Given the description of an element on the screen output the (x, y) to click on. 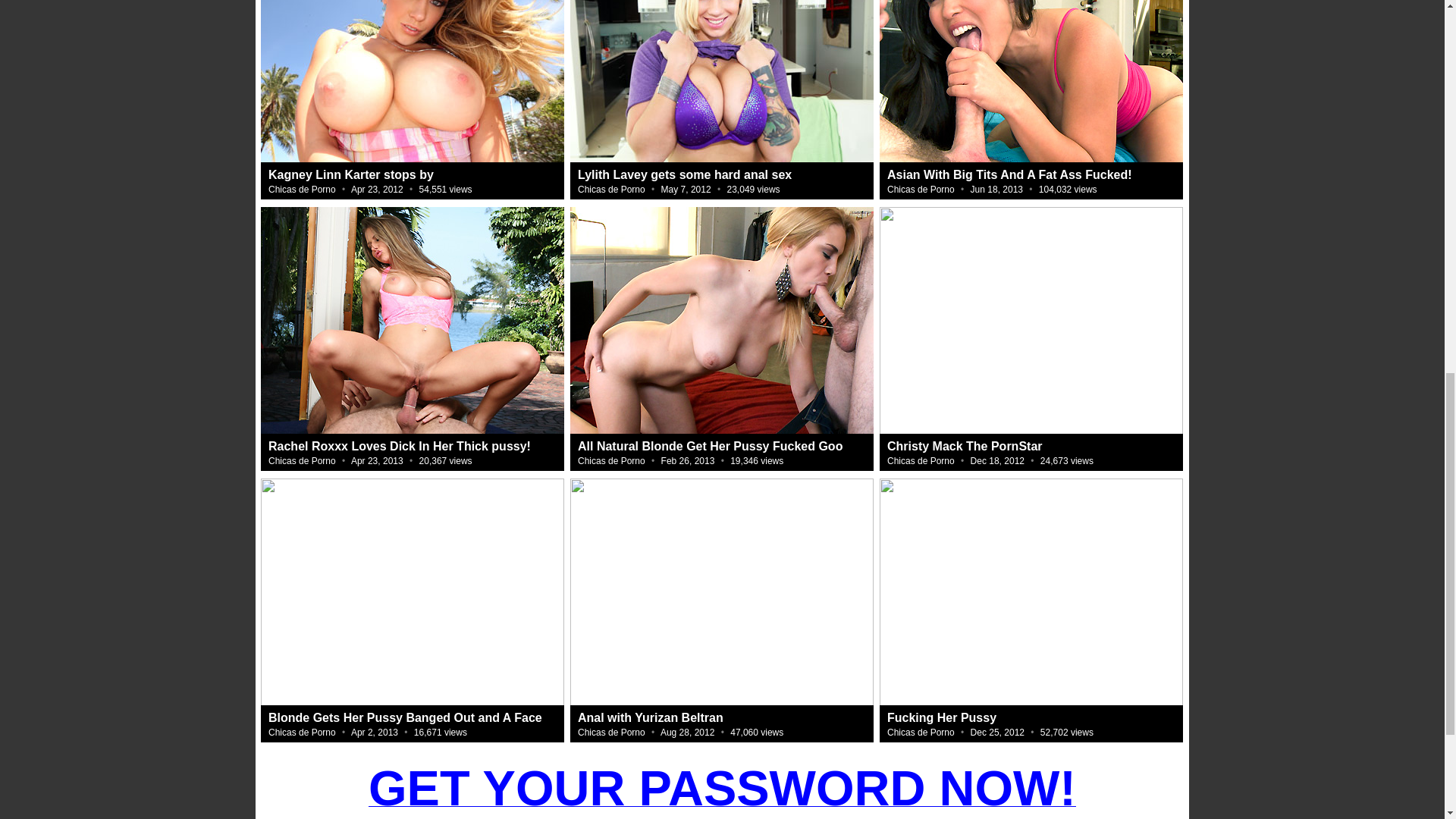
GET YOUR PASSWORD NOW! (721, 784)
